Given the description of an element on the screen output the (x, y) to click on. 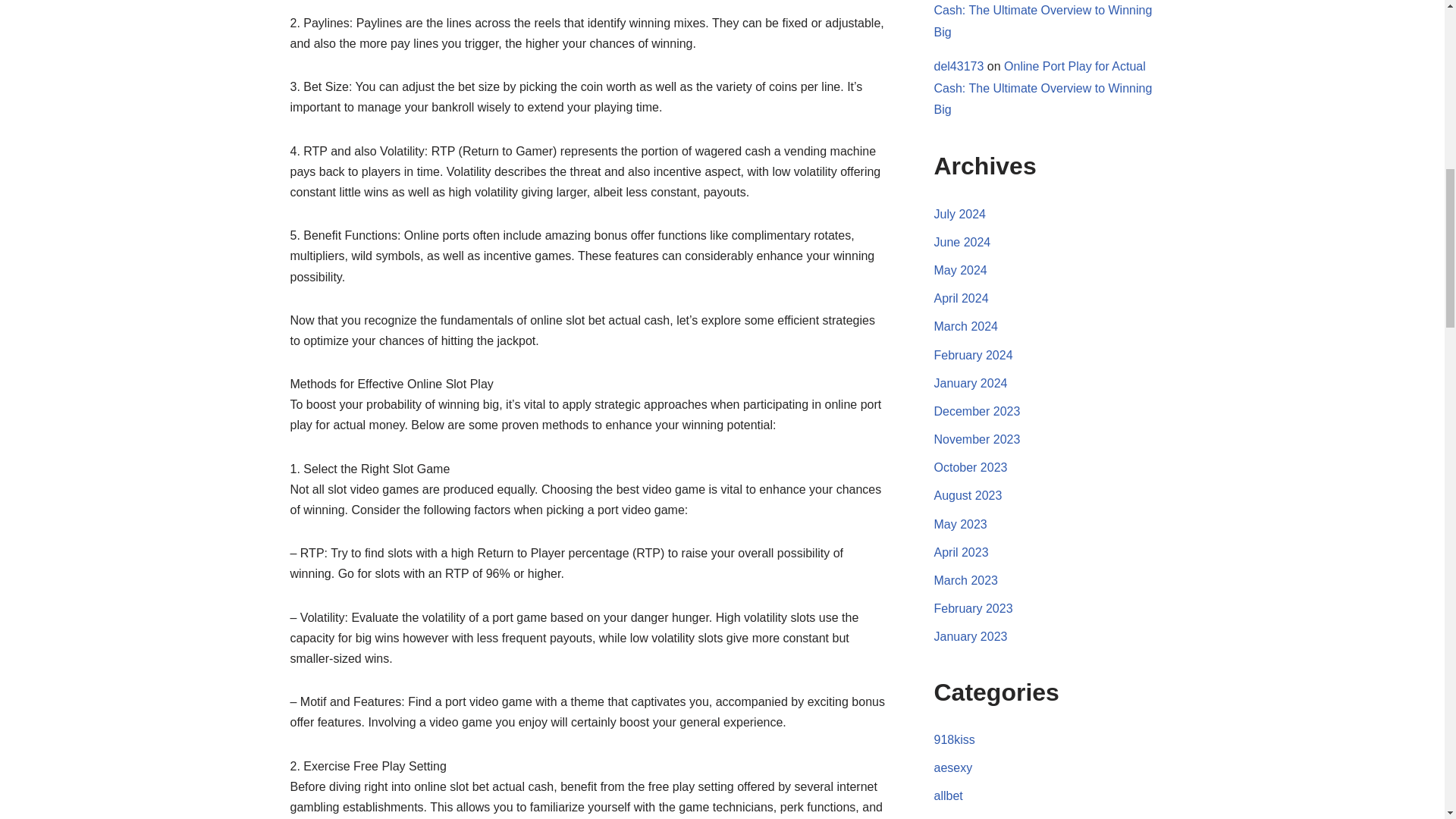
February 2024 (973, 354)
November 2023 (977, 439)
December 2023 (977, 410)
March 2024 (966, 326)
May 2024 (960, 269)
January 2024 (970, 382)
del43173 (959, 65)
July 2024 (960, 214)
June 2024 (962, 241)
April 2024 (961, 297)
